Given the description of an element on the screen output the (x, y) to click on. 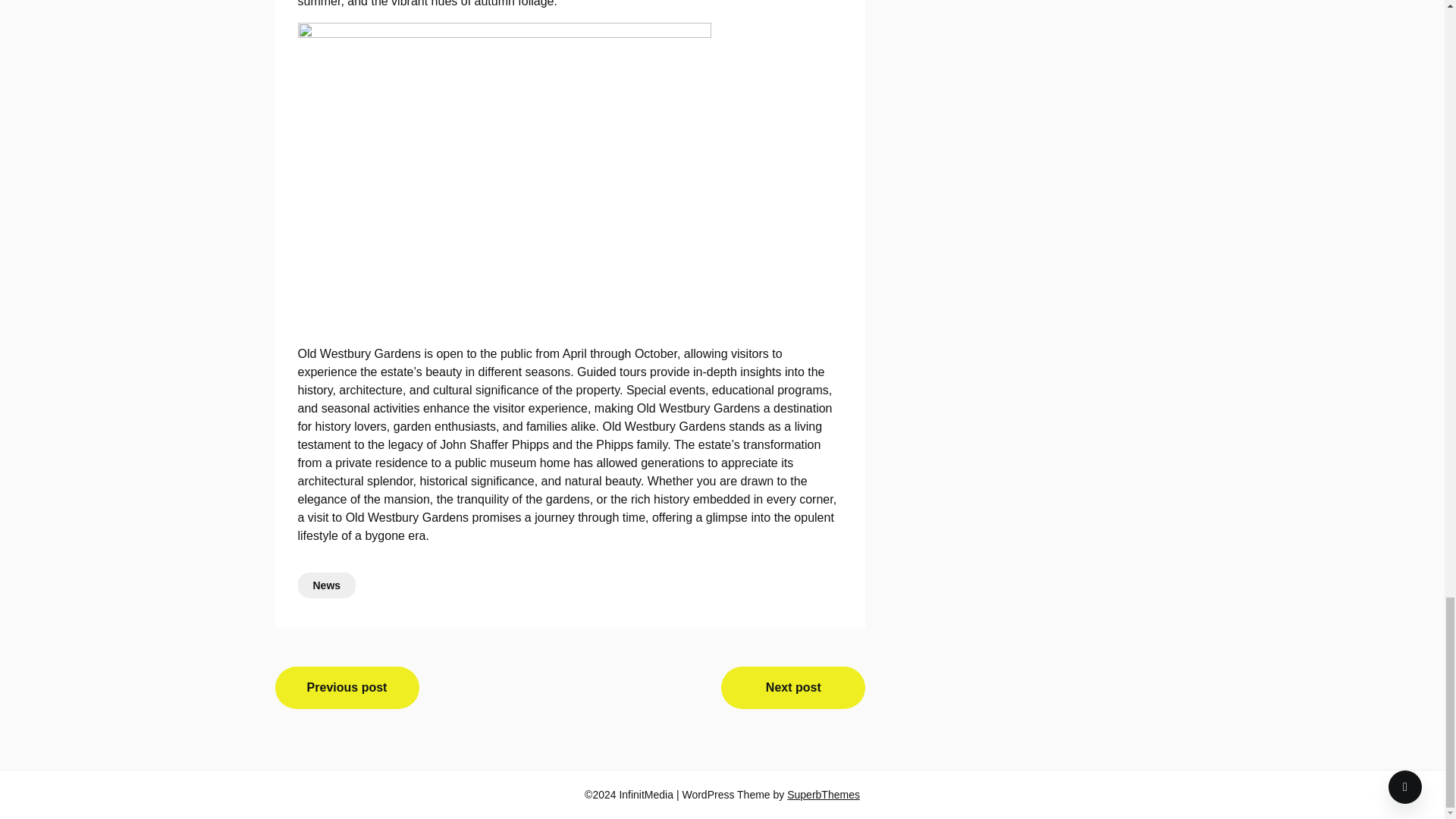
Next post (792, 687)
Previous post (347, 687)
News (326, 585)
